Given the description of an element on the screen output the (x, y) to click on. 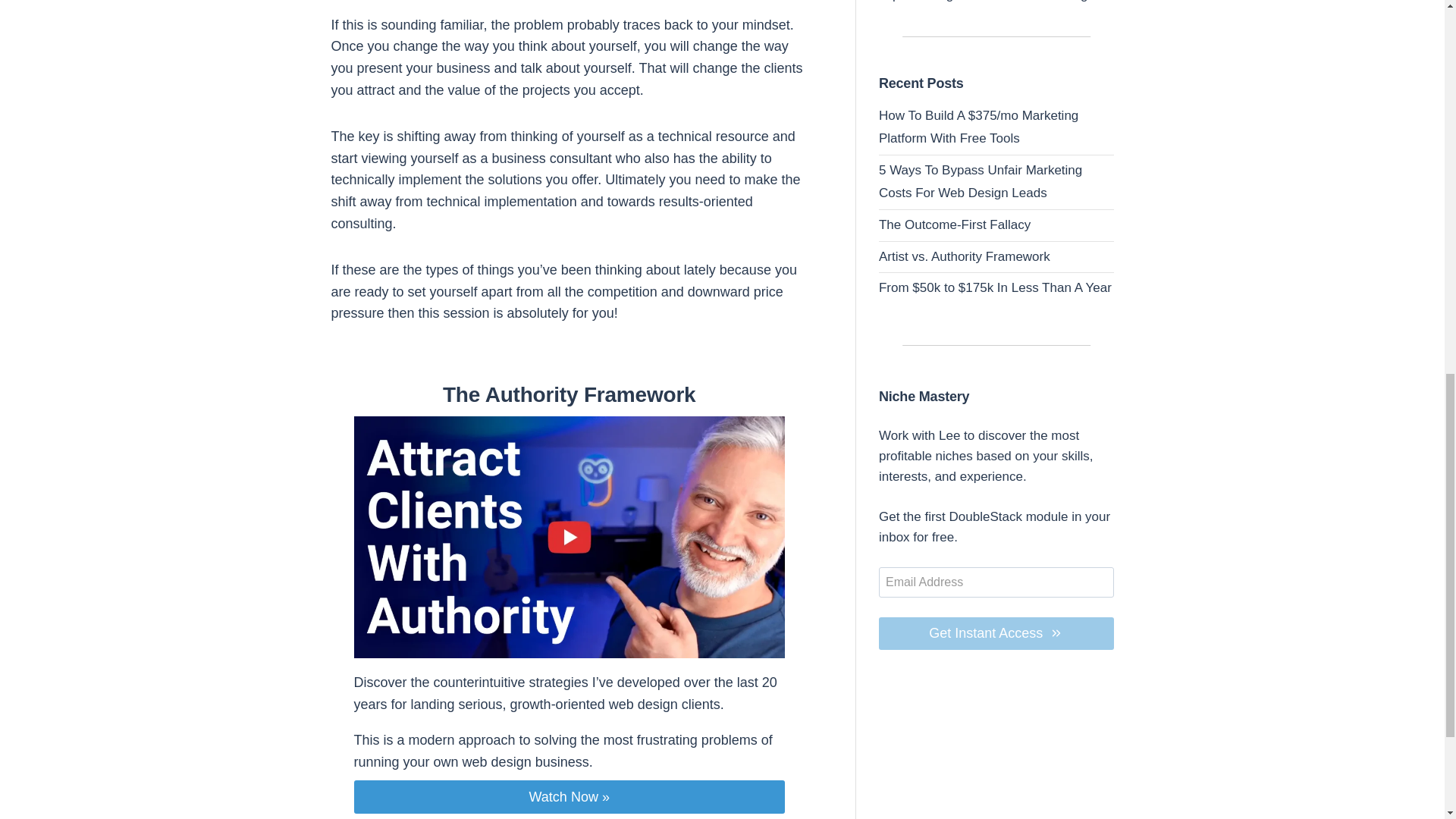
Get Instant Access (996, 633)
The Outcome-First Fallacy (954, 224)
Top 5 Pricing Models For Web Design (986, 1)
5 Ways To Bypass Unfair Marketing Costs For Web Design Leads (980, 181)
Artist vs. Authority Framework (964, 256)
